Given the description of an element on the screen output the (x, y) to click on. 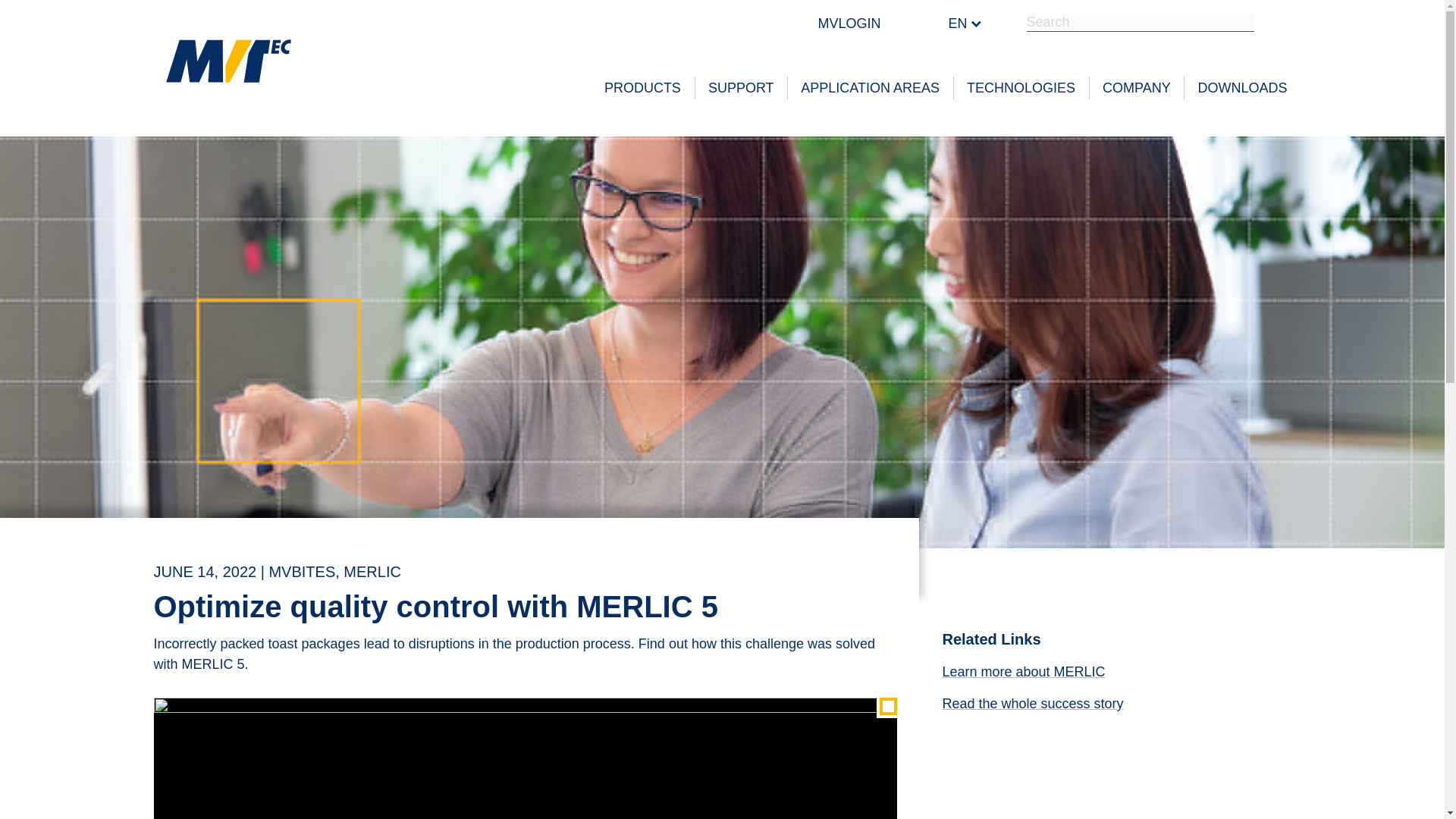
PRODUCTS (642, 88)
MVLogin (848, 21)
Learn more about MERLIC (1023, 671)
Read the whole success story (1032, 703)
MVLOGIN (848, 21)
EN (952, 23)
